Given the description of an element on the screen output the (x, y) to click on. 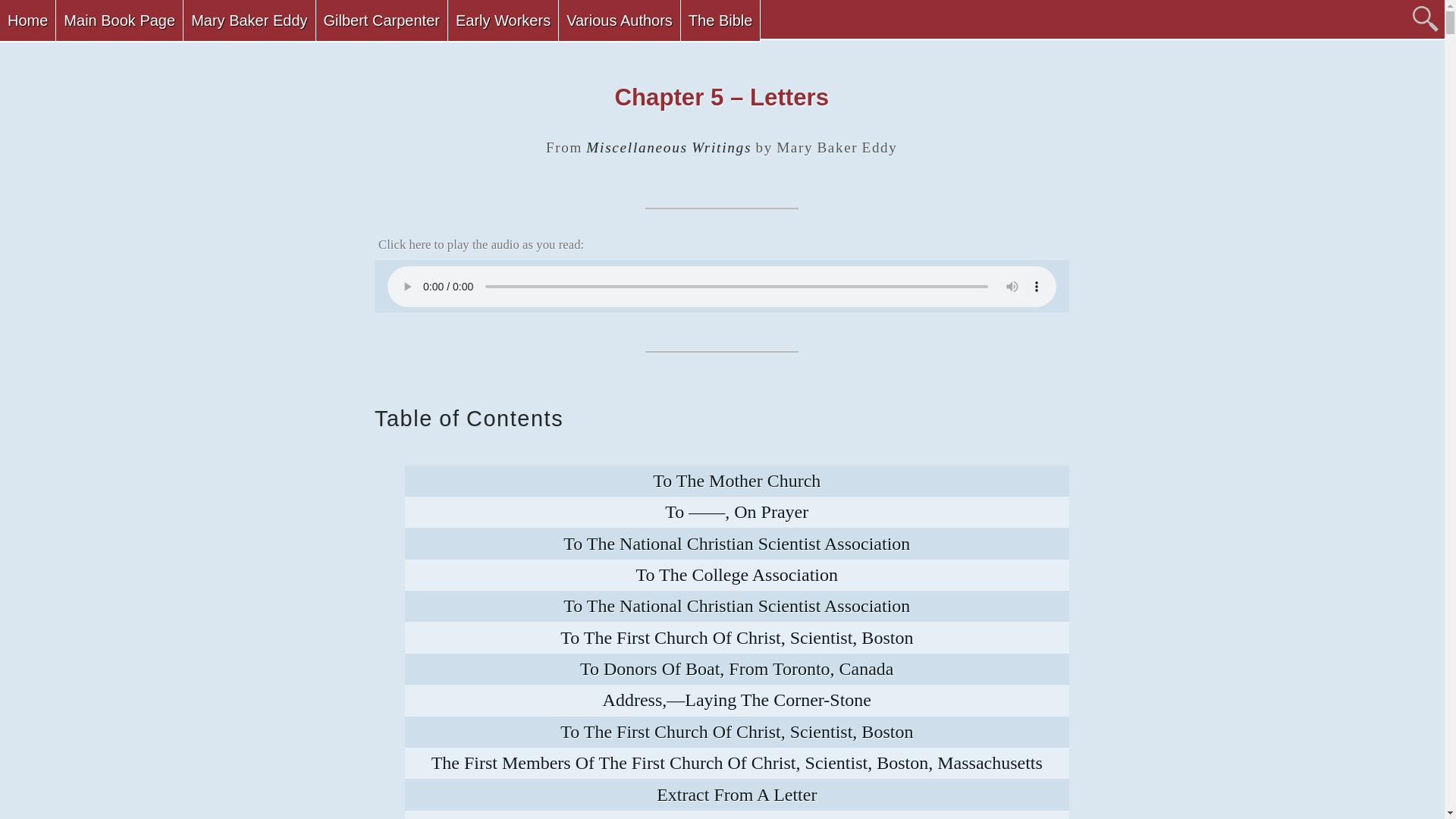
Main Book Page (119, 21)
Gilbert Carpenter (380, 21)
Early Workers (502, 21)
Mary Baker Eddy (248, 21)
Home (27, 21)
